Given the description of an element on the screen output the (x, y) to click on. 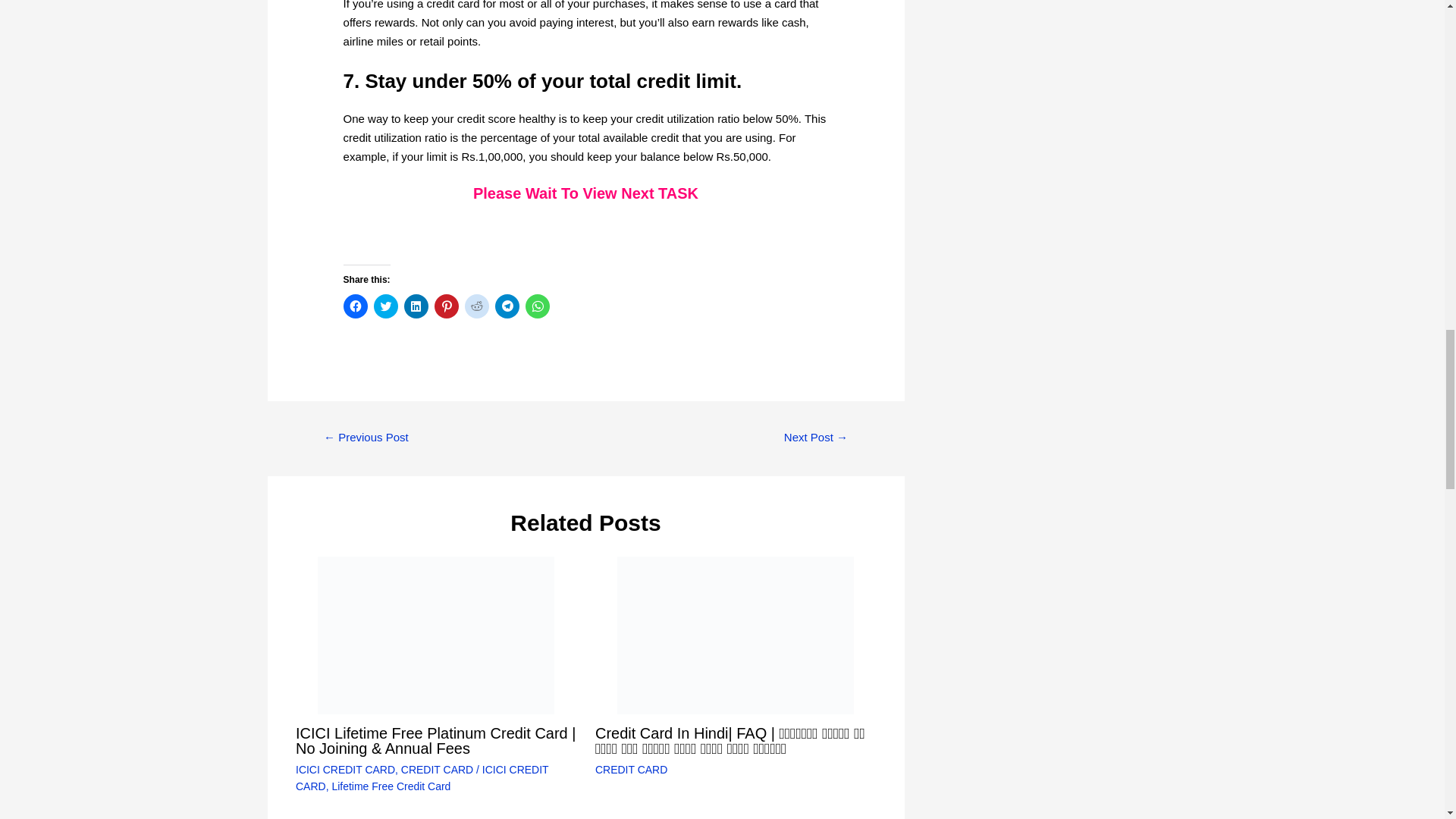
Click to share on Twitter (385, 306)
Click to share on LinkedIn (416, 306)
Click to share on Facebook (355, 306)
